Given the description of an element on the screen output the (x, y) to click on. 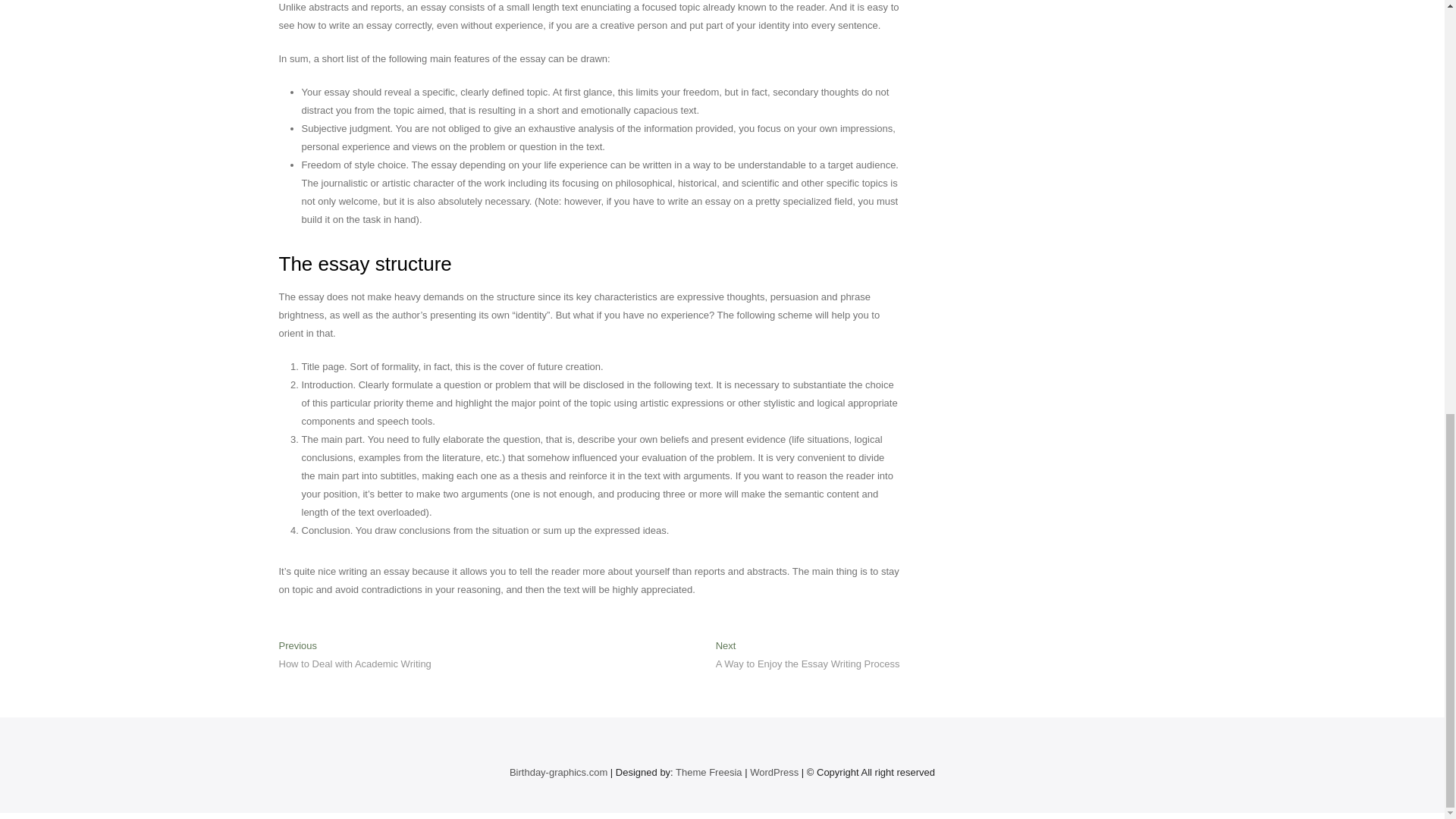
Theme Freesia (354, 656)
WordPress (807, 656)
WordPress (708, 772)
Birthday-graphics.com (773, 772)
Birthday-graphics.com (773, 772)
Theme Freesia (558, 772)
